Given the description of an element on the screen output the (x, y) to click on. 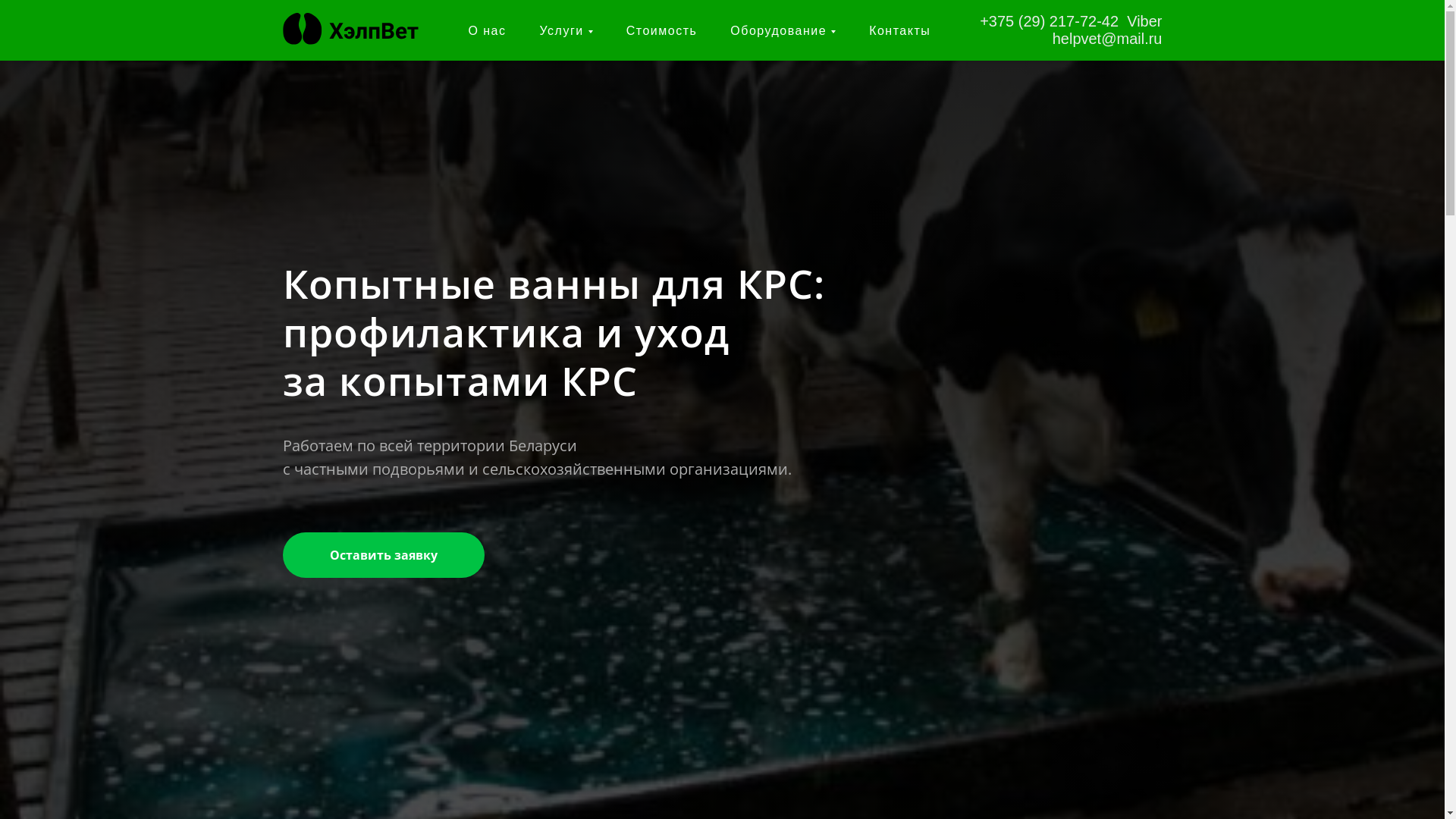
+375 (29) 217-72-42 Element type: text (1048, 20)
Viber Element type: text (1143, 20)
helpvet@mail.ru Element type: text (1107, 38)
